Given the description of an element on the screen output the (x, y) to click on. 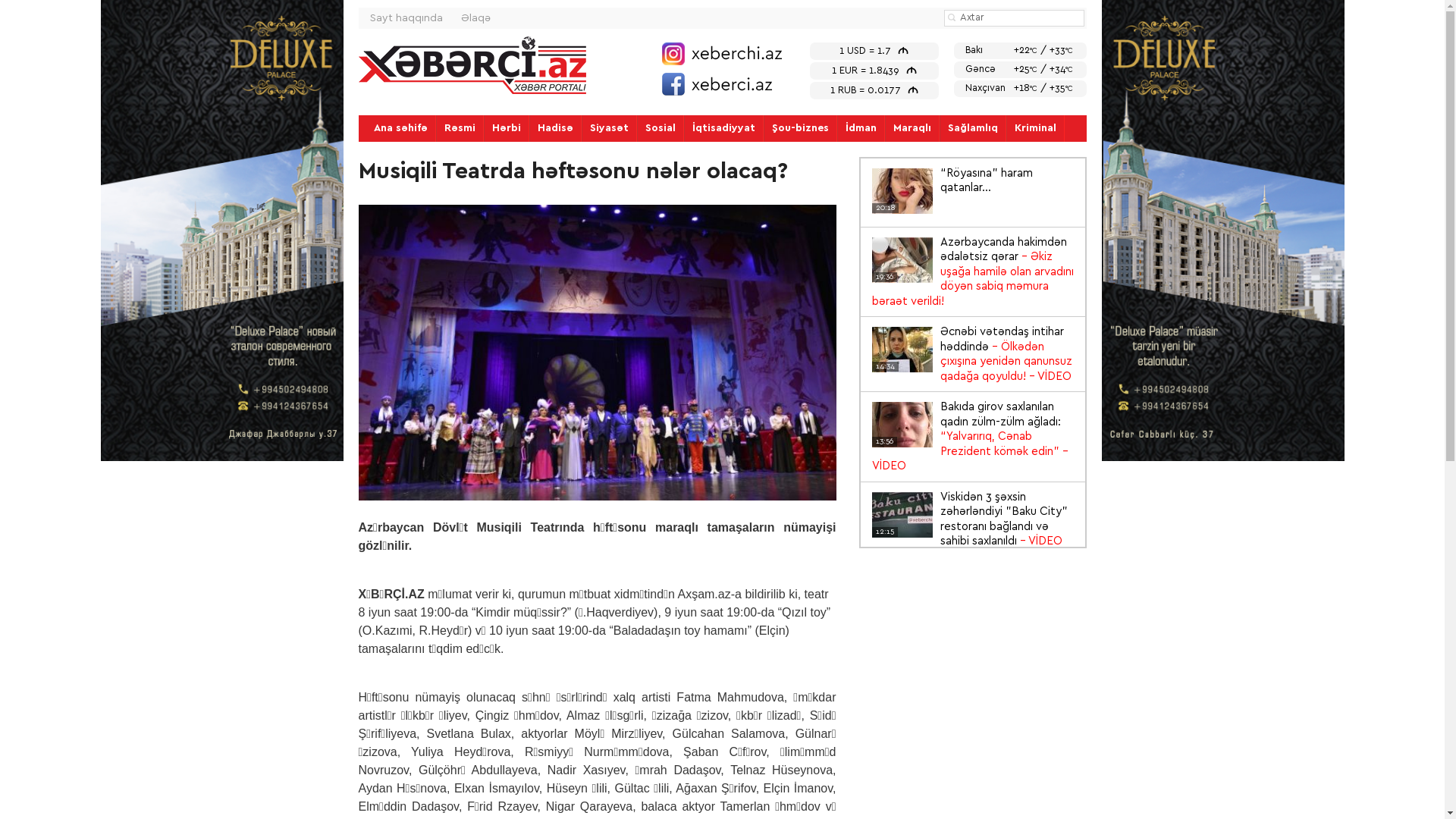
1 EUR = 1.8439 M Element type: text (873, 70)
1 RUB = 0.0177 M Element type: text (873, 90)
Axtar Element type: text (951, 17)
xeberci.az Element type: hover (471, 65)
Kriminal Element type: text (1035, 127)
Sosial Element type: text (659, 127)
1 USD = 1.7 M Element type: text (873, 51)
Axtar Element type: hover (951, 17)
